Given the description of an element on the screen output the (x, y) to click on. 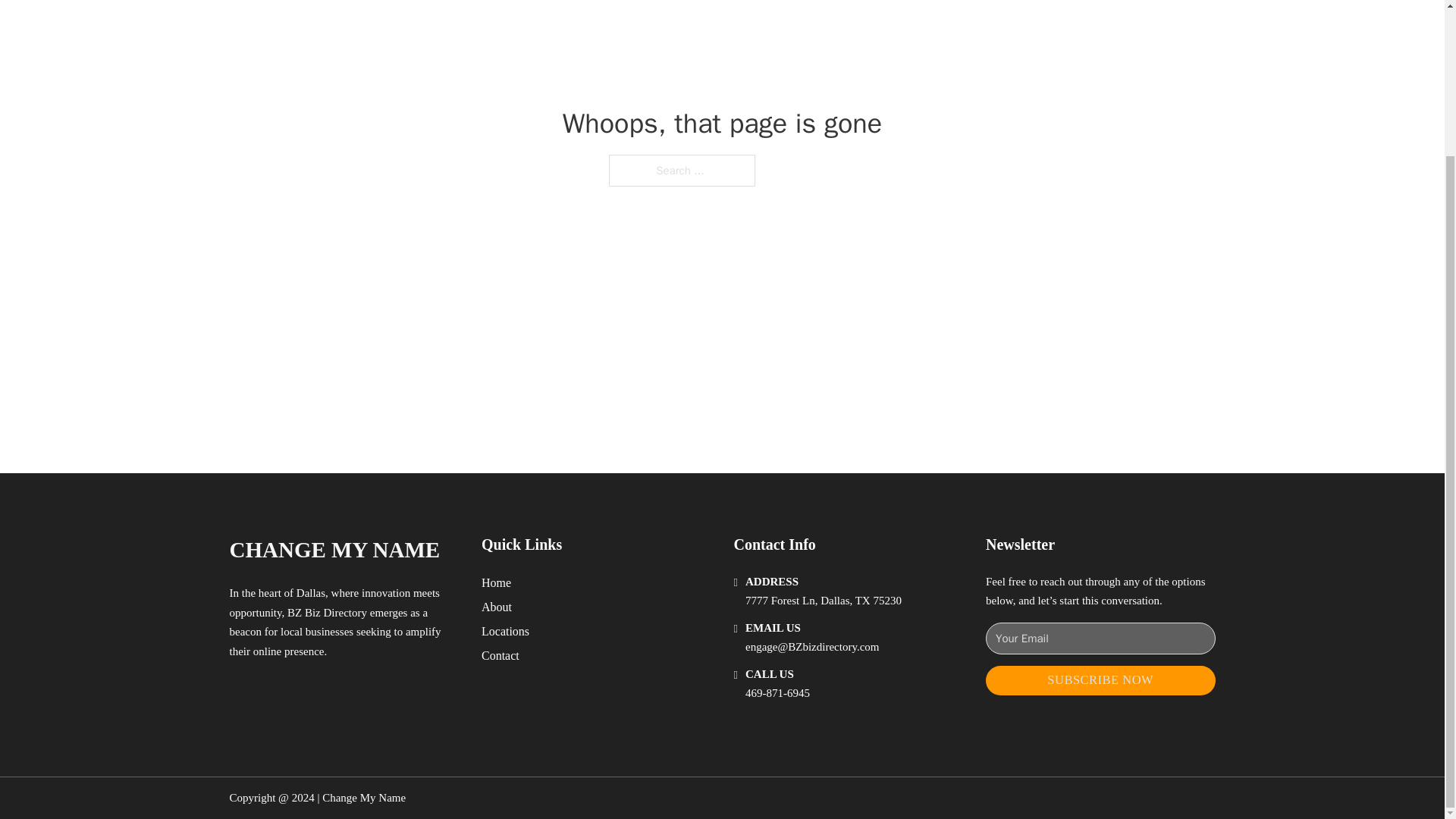
CHANGE MY NAME (333, 549)
Locations (505, 630)
Home (496, 582)
Contact (500, 655)
469-871-6945 (777, 693)
About (496, 607)
SUBSCRIBE NOW (1100, 680)
